Given the description of an element on the screen output the (x, y) to click on. 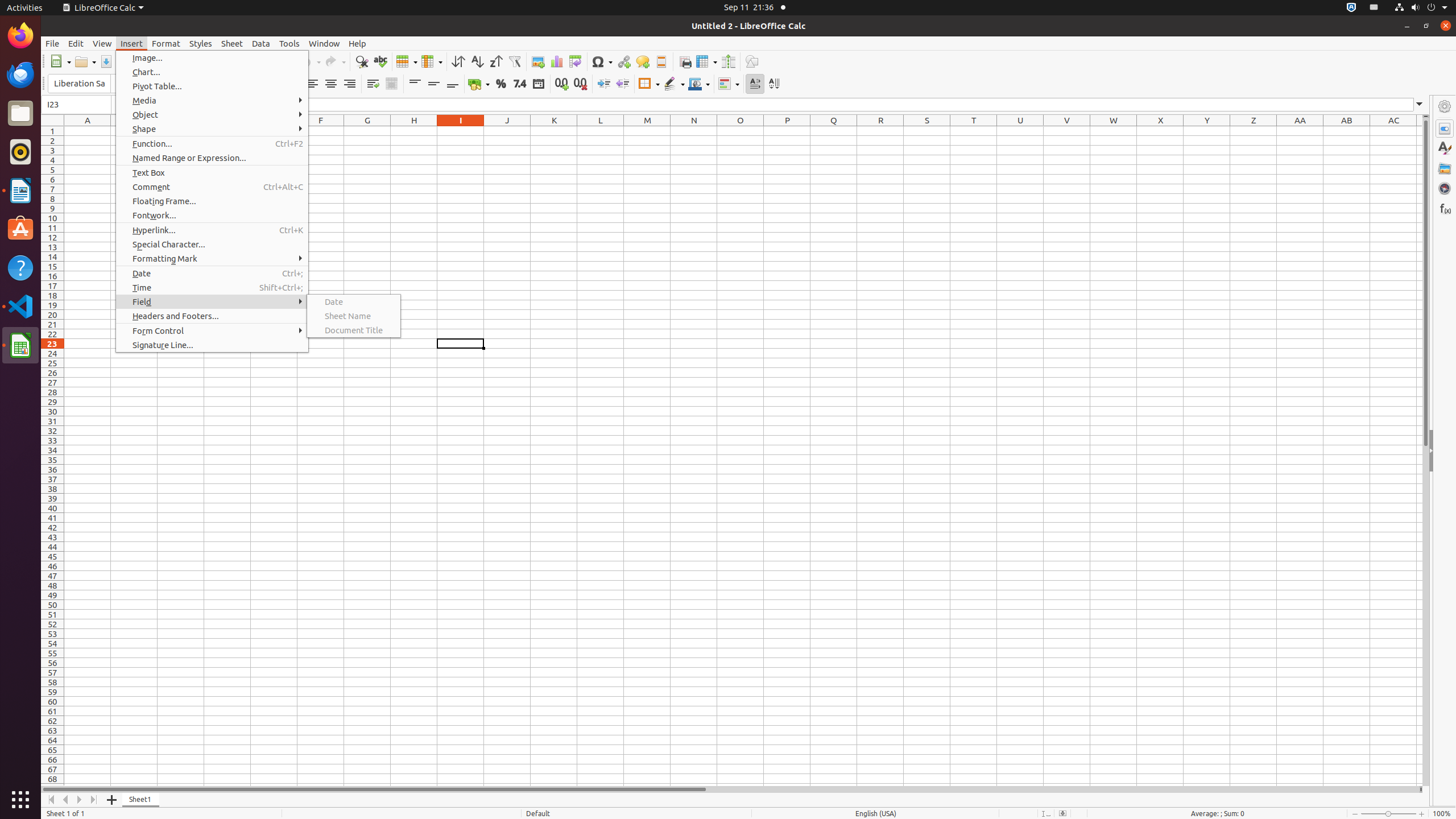
K1 Element type: table-cell (553, 130)
Gallery Element type: radio-button (1444, 168)
J1 Element type: table-cell (507, 130)
Properties Element type: radio-button (1444, 128)
Headers and Footers Element type: push-button (660, 61)
